Given the description of an element on the screen output the (x, y) to click on. 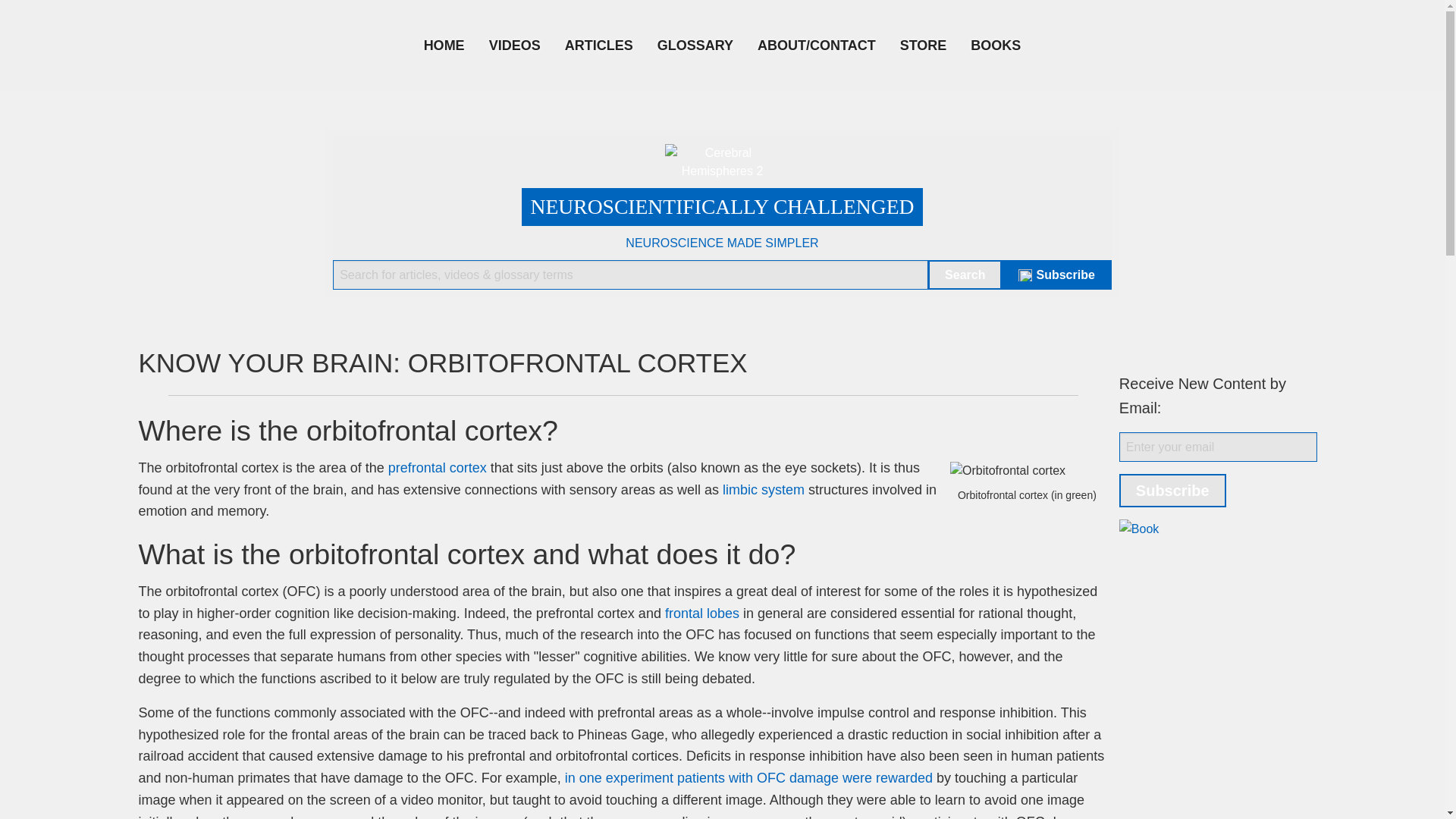
STORE (923, 45)
frontal lobes (702, 613)
BOOKS (995, 45)
in one experiment patients with OFC damage were rewarded (748, 777)
VIDEOS (515, 45)
Subscribe (1172, 490)
ARTICLES (599, 45)
prefrontal cortex (437, 467)
Subscribe (1172, 490)
Search (964, 274)
Subscribe (1055, 274)
limbic system (763, 489)
HOME (444, 45)
GLOSSARY (695, 45)
Search (964, 274)
